Given the description of an element on the screen output the (x, y) to click on. 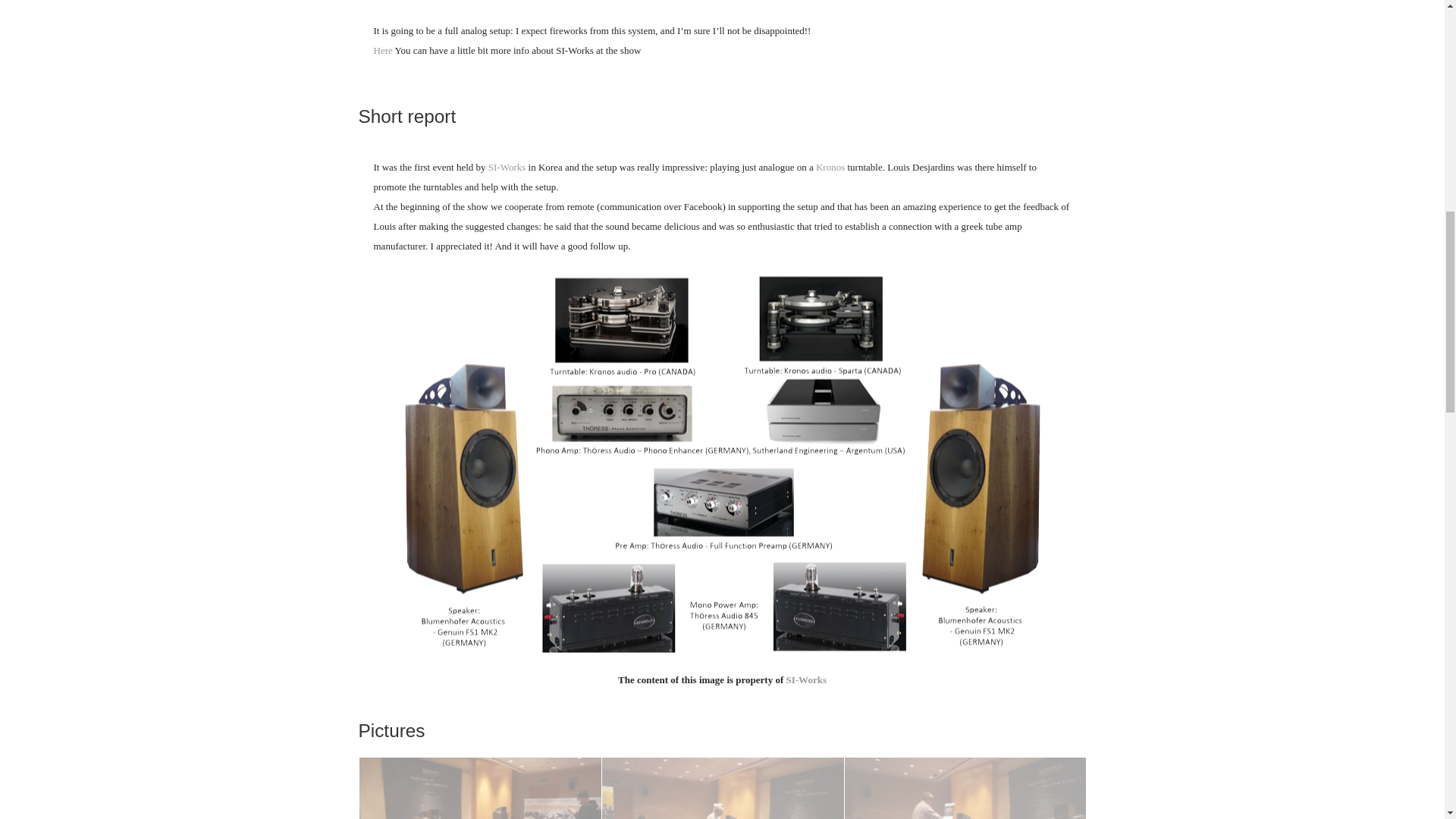
Here (381, 50)
SI-Works (805, 679)
SI-Works (506, 166)
Kronos (829, 166)
